Given the description of an element on the screen output the (x, y) to click on. 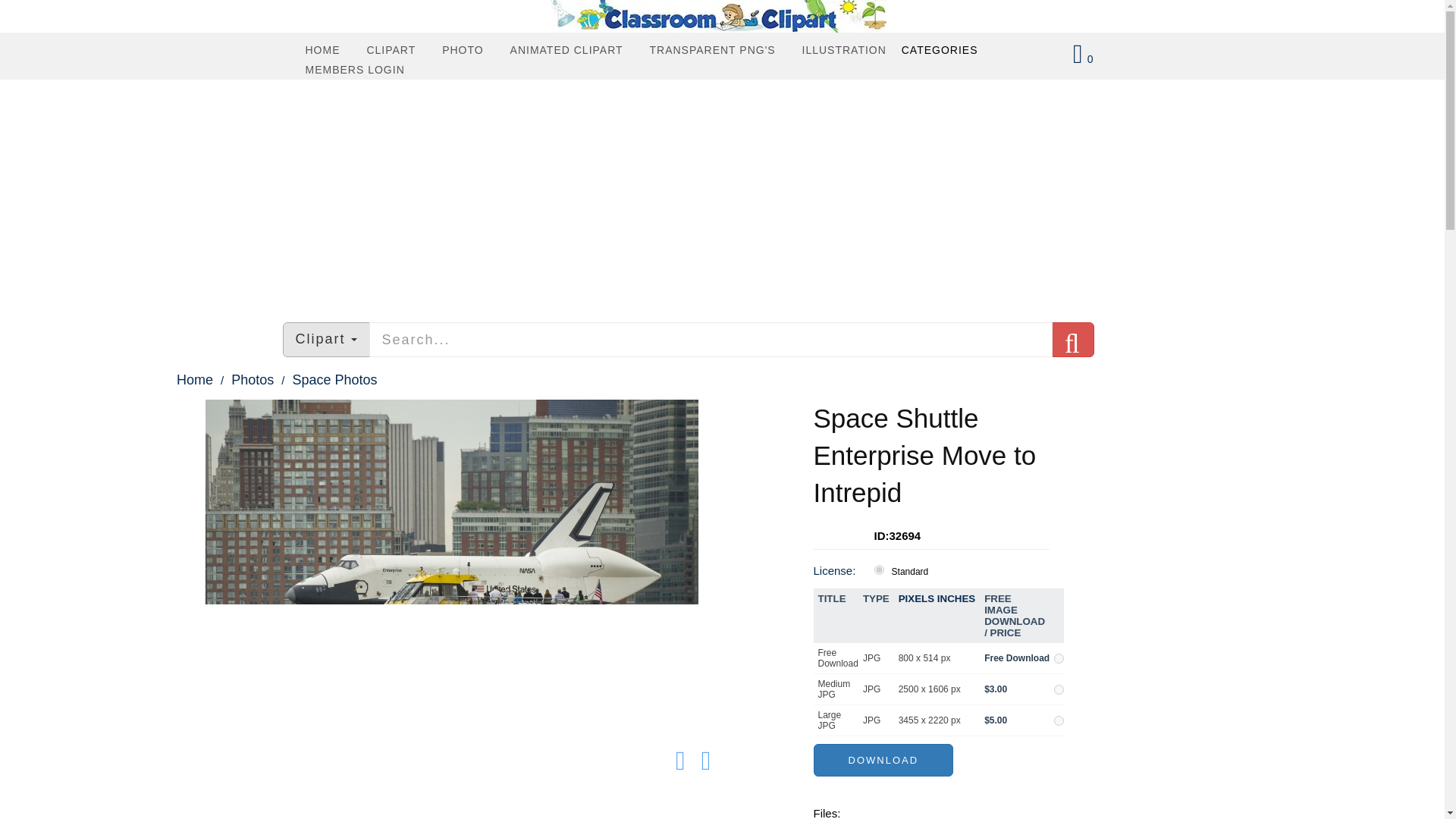
CLIPART (390, 49)
Photos (242, 379)
 0 (1083, 59)
Download (882, 759)
183040 (1059, 689)
Space Photos (325, 379)
MEMBERS LOGIN (355, 69)
TRANSPARENT PNG'S (711, 49)
HOME (323, 49)
Home (193, 379)
